Given the description of an element on the screen output the (x, y) to click on. 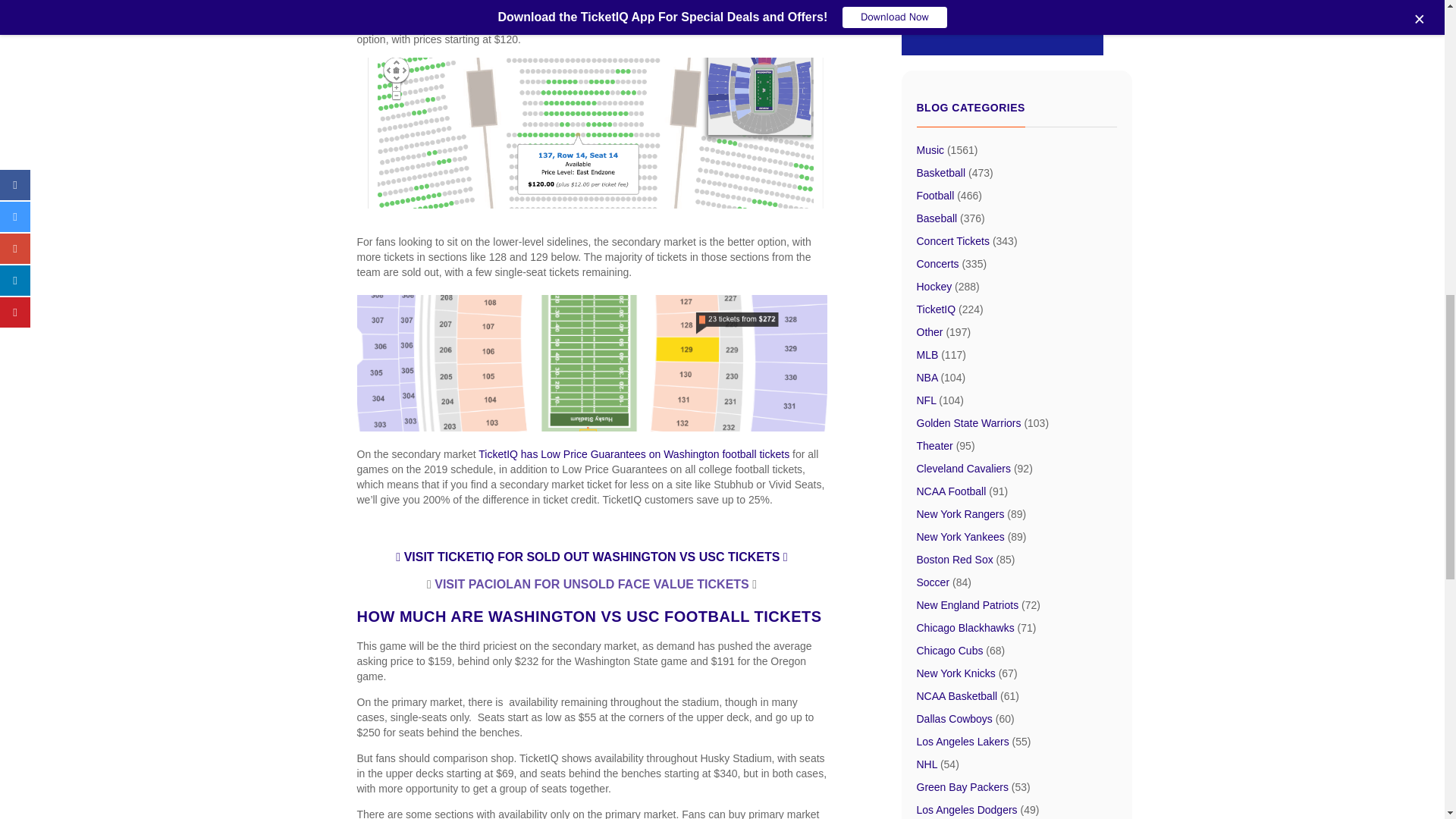
team website via Primary partner Paciolan (569, 2)
Blog Banner copy-3 (1001, 27)
VISIT PACIOLAN FOR UNSOLD FACE VALUE TICKETS (592, 584)
